Given the description of an element on the screen output the (x, y) to click on. 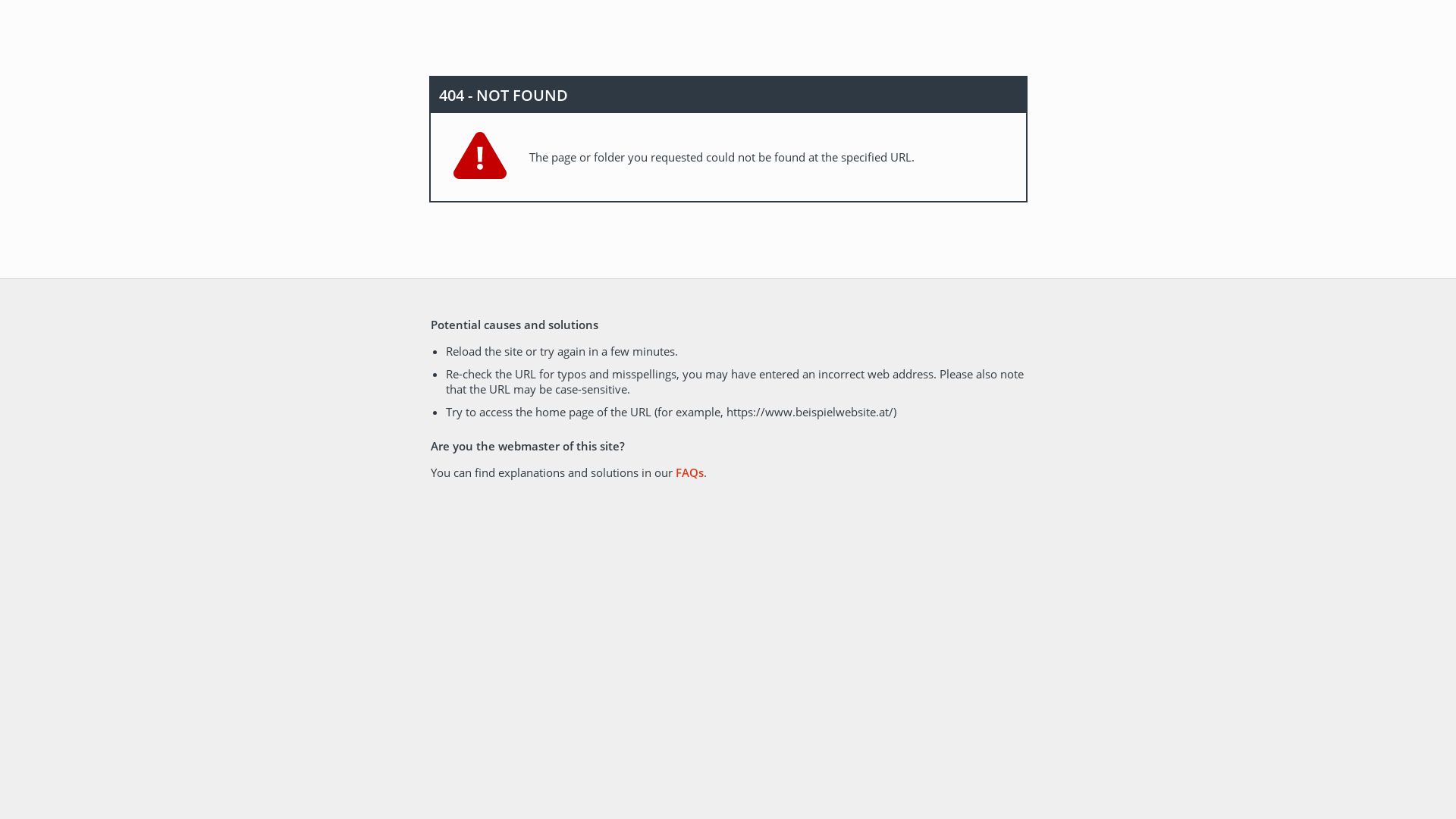
FAQs Element type: text (688, 472)
